Given the description of an element on the screen output the (x, y) to click on. 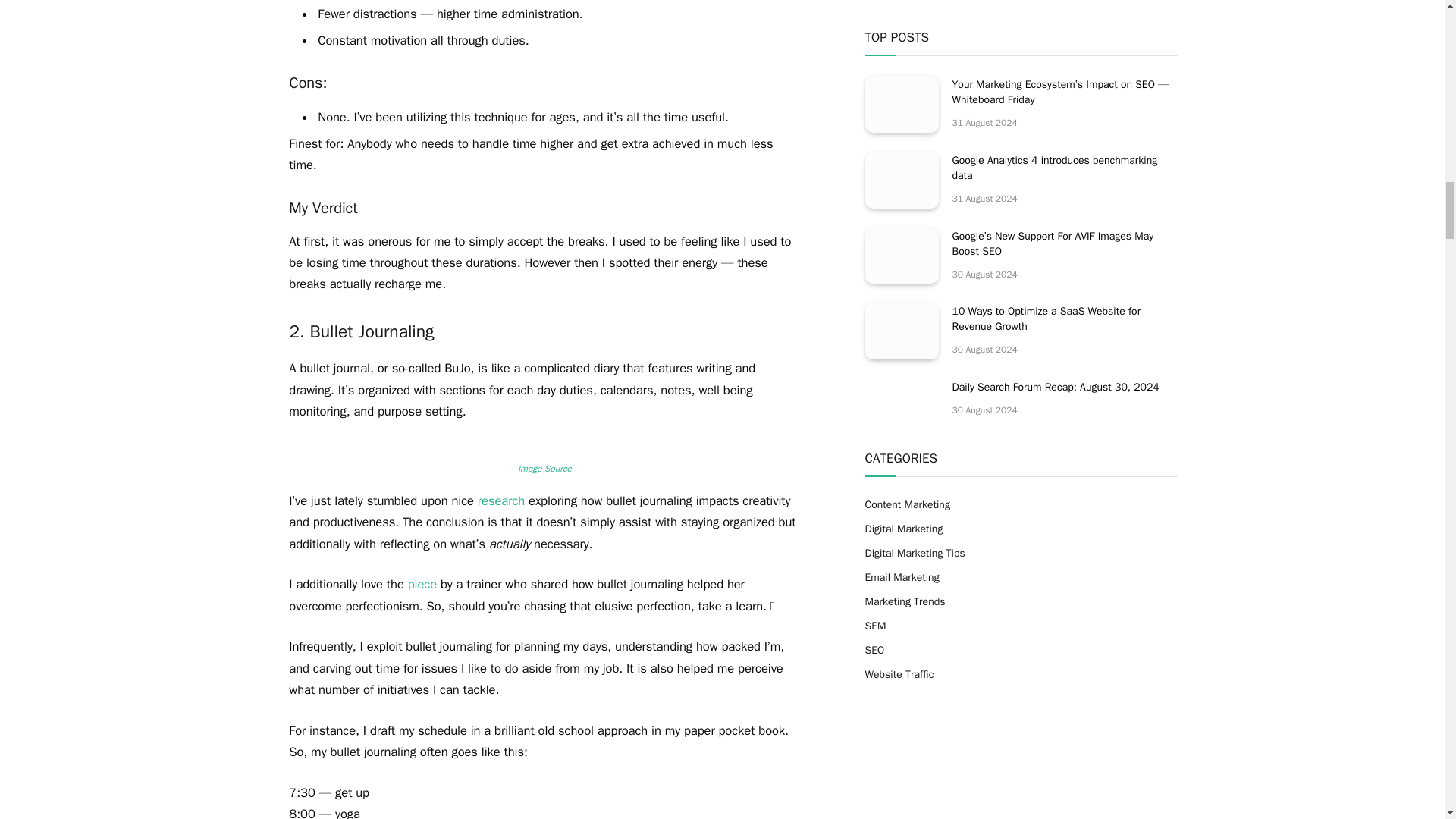
research (500, 500)
Image Source (545, 468)
piece (421, 584)
